Given the description of an element on the screen output the (x, y) to click on. 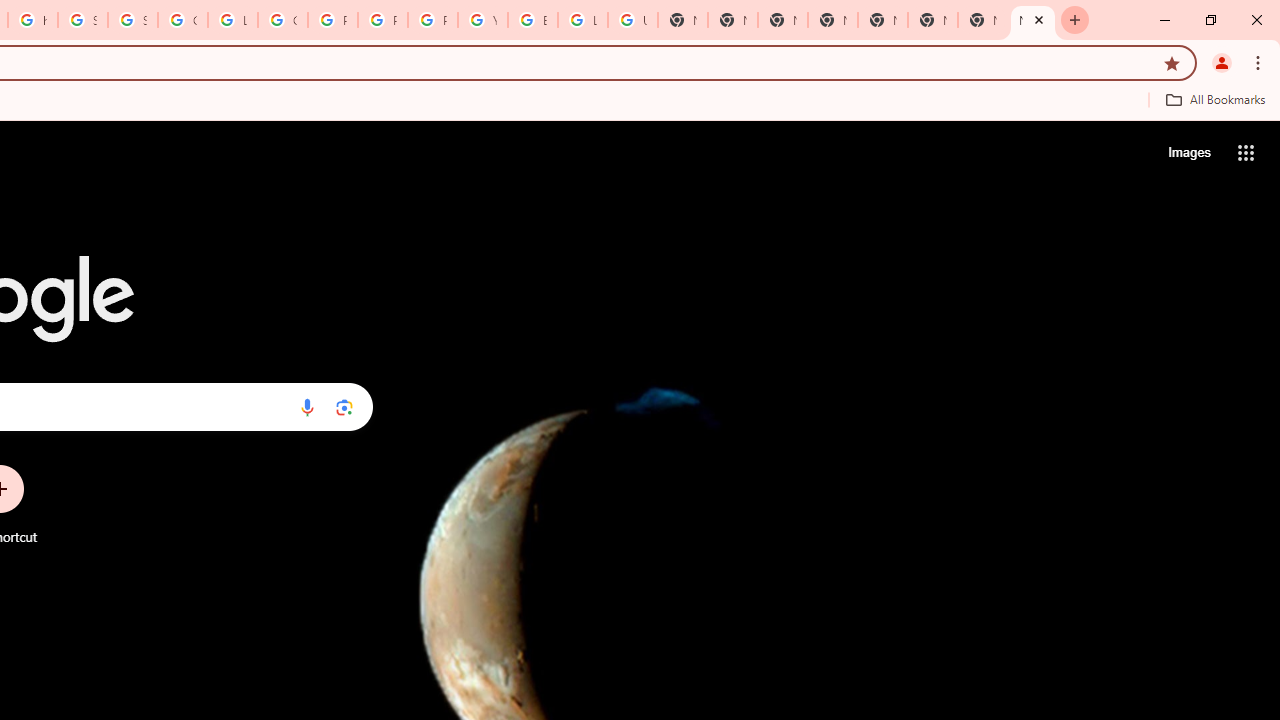
Search by image (344, 407)
Sign in - Google Accounts (132, 20)
New Tab (932, 20)
All Bookmarks (1215, 99)
Search by voice (307, 407)
New Tab (1032, 20)
Privacy Help Center - Policies Help (383, 20)
